Given the description of an element on the screen output the (x, y) to click on. 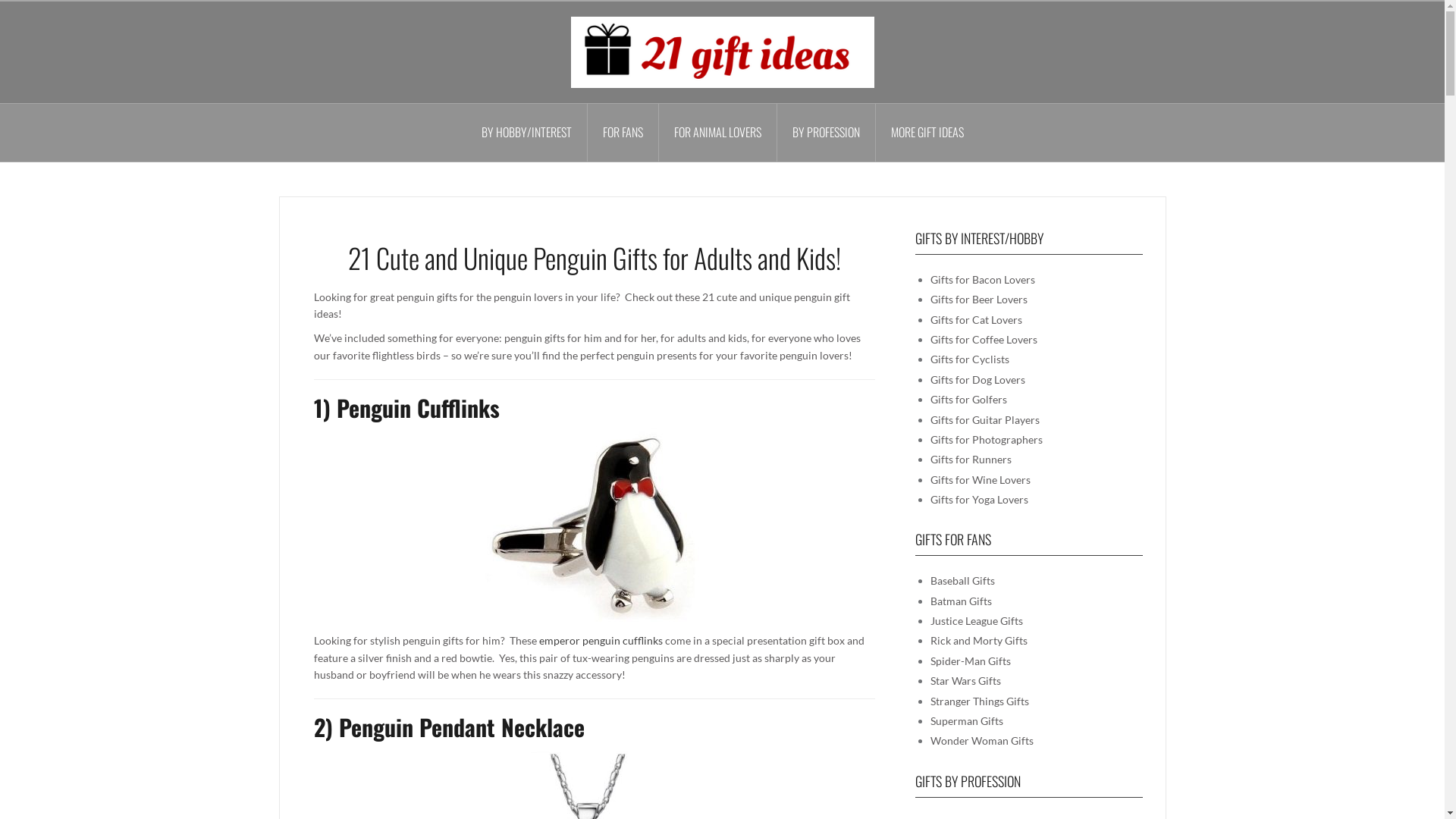
Gifts for Beer Lovers Element type: text (977, 298)
Gifts for Wine Lovers Element type: text (979, 479)
Rick and Morty Gifts Element type: text (977, 639)
MORE GIFT IDEAS Element type: text (926, 132)
Spider-Man Gifts Element type: text (969, 660)
Gifts for Coffee Lovers Element type: text (982, 338)
emperor penguin cufflinks Element type: text (600, 639)
21 Gift Ideas Element type: hover (721, 50)
Superman Gifts Element type: text (965, 720)
Star Wars Gifts Element type: text (964, 680)
FOR FANS Element type: text (622, 132)
Gifts for Runners Element type: text (969, 458)
Gifts for Bacon Lovers Element type: text (981, 279)
FOR ANIMAL LOVERS Element type: text (717, 132)
Stranger Things Gifts Element type: text (978, 700)
BY PROFESSION Element type: text (825, 132)
Batman Gifts Element type: text (960, 600)
Gifts for Dog Lovers Element type: text (976, 379)
BY HOBBY/INTEREST Element type: text (525, 132)
Justice League Gifts Element type: text (975, 620)
Gifts for Guitar Players Element type: text (983, 419)
Gifts for Yoga Lovers Element type: text (978, 498)
Baseball Gifts Element type: text (961, 580)
Gifts for Cyclists Element type: text (968, 358)
Wonder Woman Gifts Element type: text (980, 740)
Gifts for Golfers Element type: text (967, 398)
Gifts for Photographers Element type: text (985, 439)
Gifts for Cat Lovers Element type: text (975, 319)
